Given the description of an element on the screen output the (x, y) to click on. 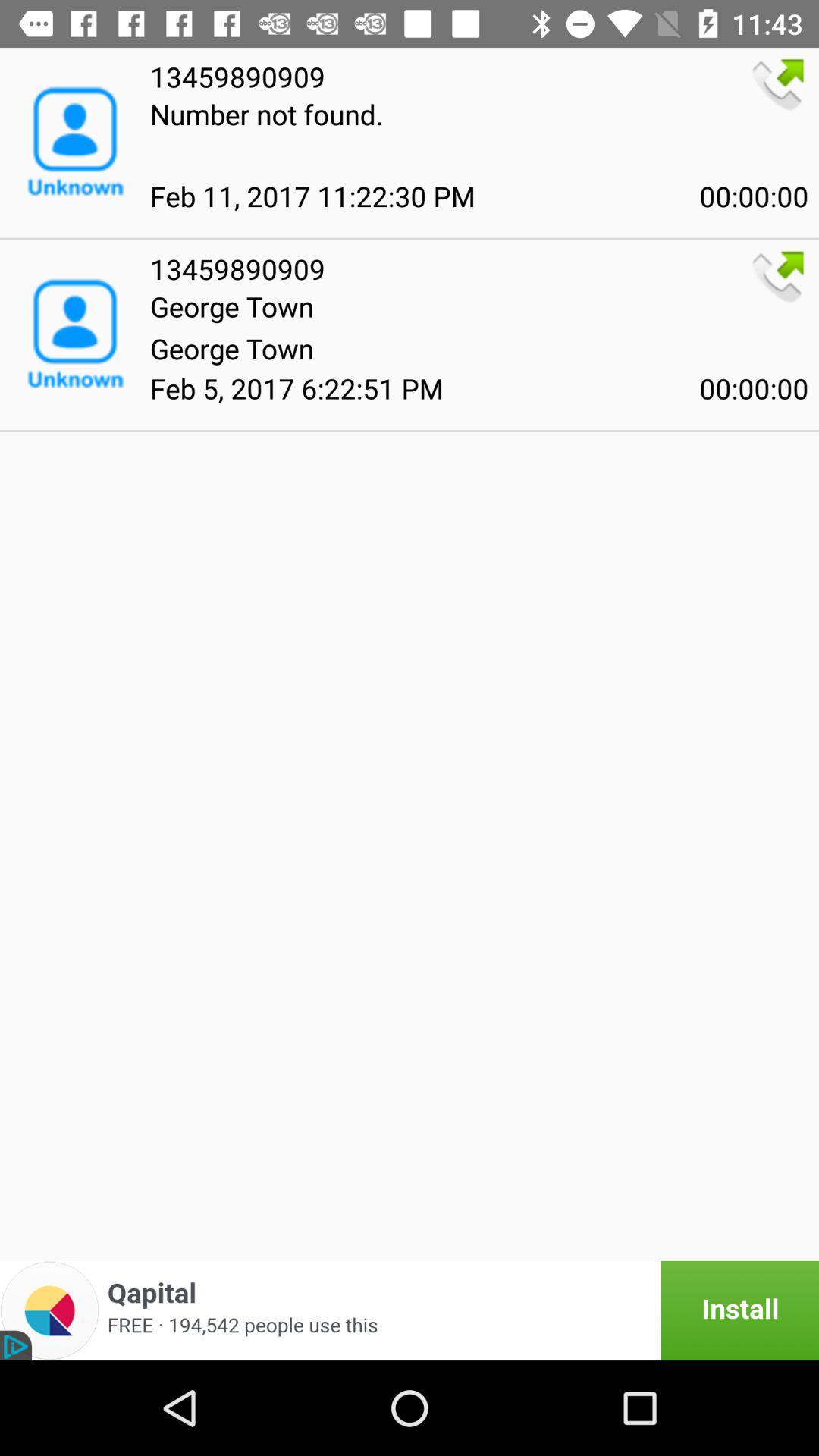
click to install app (409, 1310)
